Given the description of an element on the screen output the (x, y) to click on. 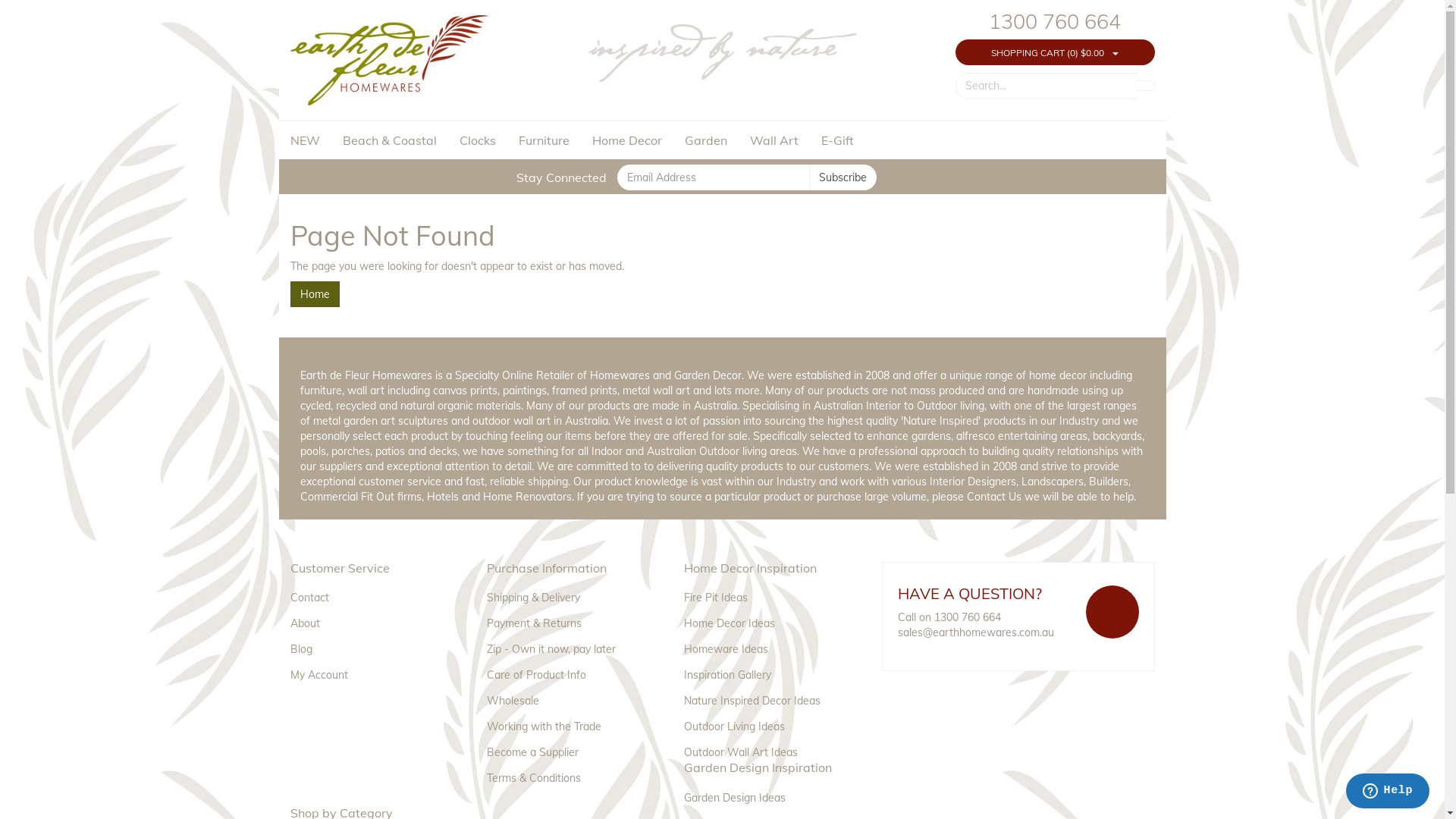
Inspiration Gallery Element type: text (765, 671)
Furniture Element type: text (543, 140)
Become a Supplier Element type: text (568, 749)
Outdoor Wall Art Ideas Element type: text (765, 749)
E-Gift Element type: text (837, 140)
Care of Product Info Element type: text (568, 671)
Home Decor Element type: text (626, 140)
Zip - Own it now, pay later Element type: text (568, 645)
About Element type: text (371, 620)
Subscribe Element type: text (842, 177)
NEW Element type: text (309, 140)
Beach & Coastal Element type: text (388, 140)
SHOPPING CART (0) $0.00 Element type: text (1047, 52)
Earth de Fleur Homewares Element type: hover (389, 51)
Garden Element type: text (705, 140)
Home Element type: text (313, 294)
Outdoor Living Ideas Element type: text (765, 723)
Contact Element type: text (371, 594)
Blog Element type: text (371, 645)
Homeware Ideas Element type: text (765, 645)
Working with the Trade Element type: text (568, 723)
Search Element type: text (1144, 85)
My Account Element type: text (371, 671)
Home Decor Ideas Element type: text (765, 620)
Wall Art Element type: text (773, 140)
Shipping & Delivery Element type: text (568, 594)
Clocks Element type: text (476, 140)
Wholesale Element type: text (568, 697)
sales@earthhomewares.com.au Element type: text (975, 632)
Fire Pit Ideas Element type: text (765, 594)
Nature Inspired Decor Ideas Element type: text (765, 697)
Payment & Returns Element type: text (568, 620)
Opens a widget where you can chat to one of our agents Element type: hover (1387, 792)
Garden Design Ideas Element type: text (765, 794)
Terms & Conditions Element type: text (568, 774)
